Given the description of an element on the screen output the (x, y) to click on. 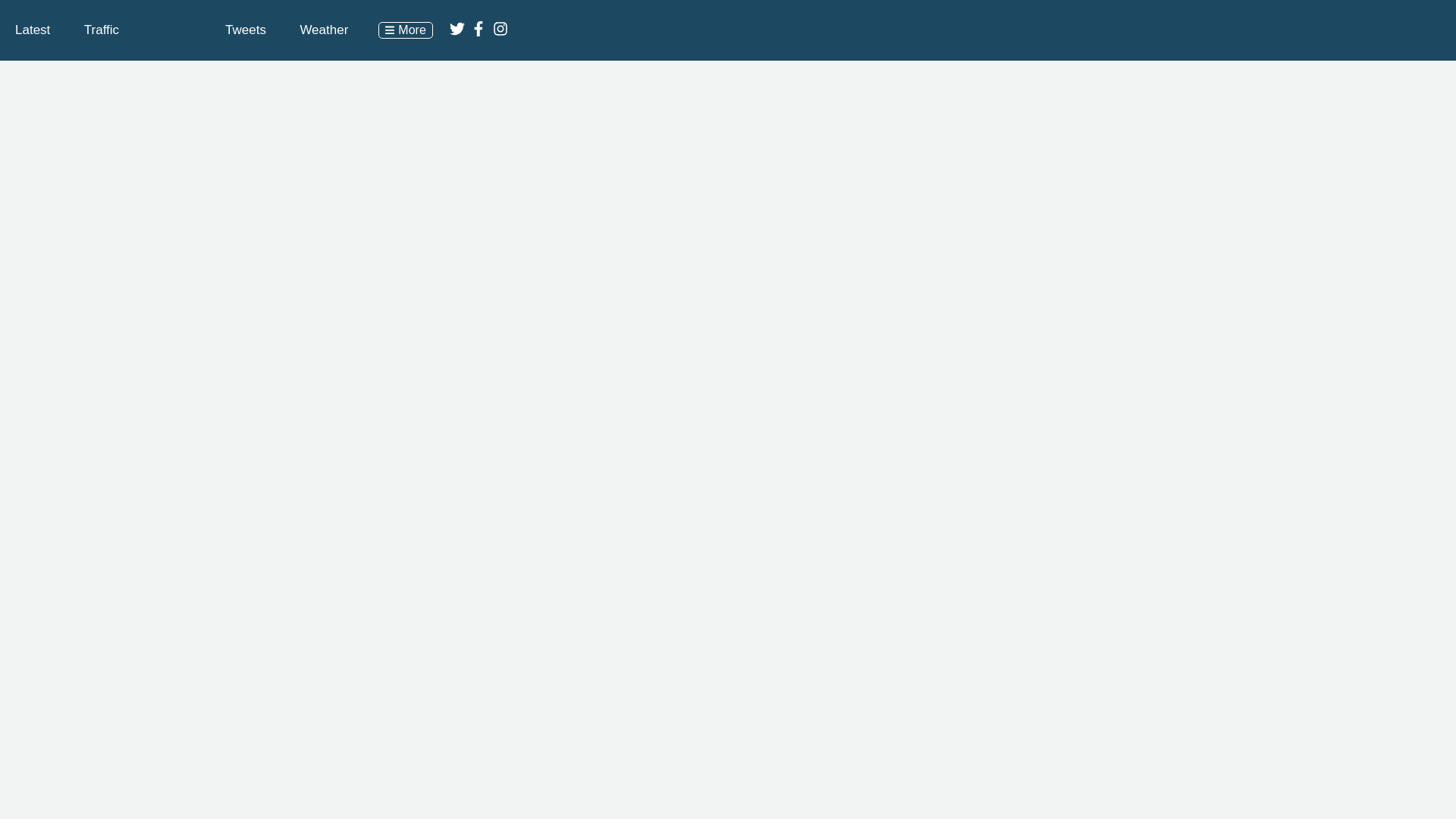
Traffic (101, 29)
Latest (31, 29)
Weather (323, 29)
Tweets (245, 29)
